Given the description of an element on the screen output the (x, y) to click on. 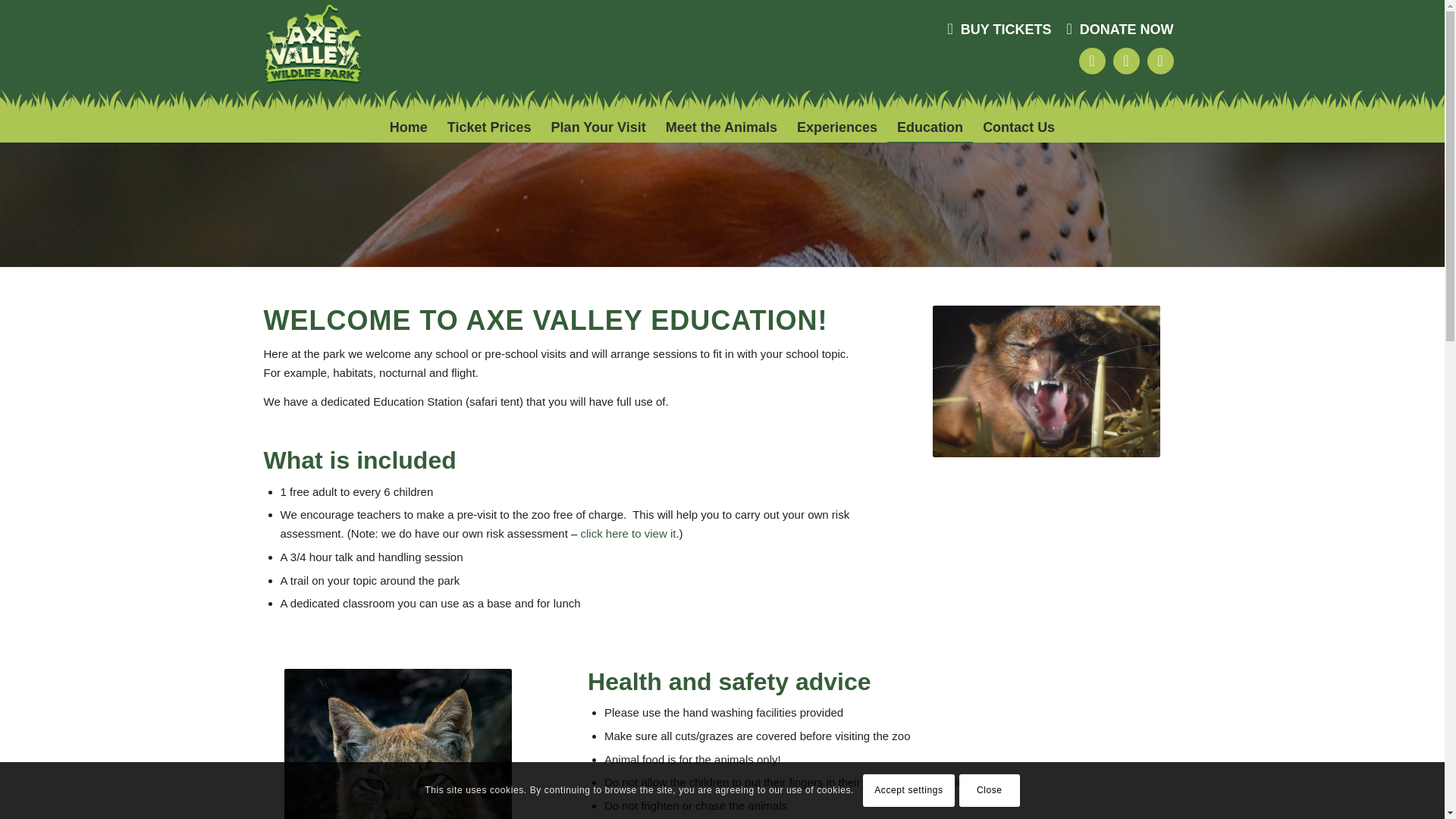
Home (409, 127)
Meet the Animals (721, 127)
Ticket Prices (489, 127)
BUY TICKETS (999, 28)
Plan Your Visit (598, 127)
Experiences (836, 127)
Close cookie bar (989, 789)
Contact Us (1018, 127)
Instagram (1126, 60)
Facebook (1091, 60)
mongoose-small (1046, 381)
DONATE NOW (1119, 28)
Twitter (1160, 60)
Education (929, 127)
click here to view it (628, 533)
